Given the description of an element on the screen output the (x, y) to click on. 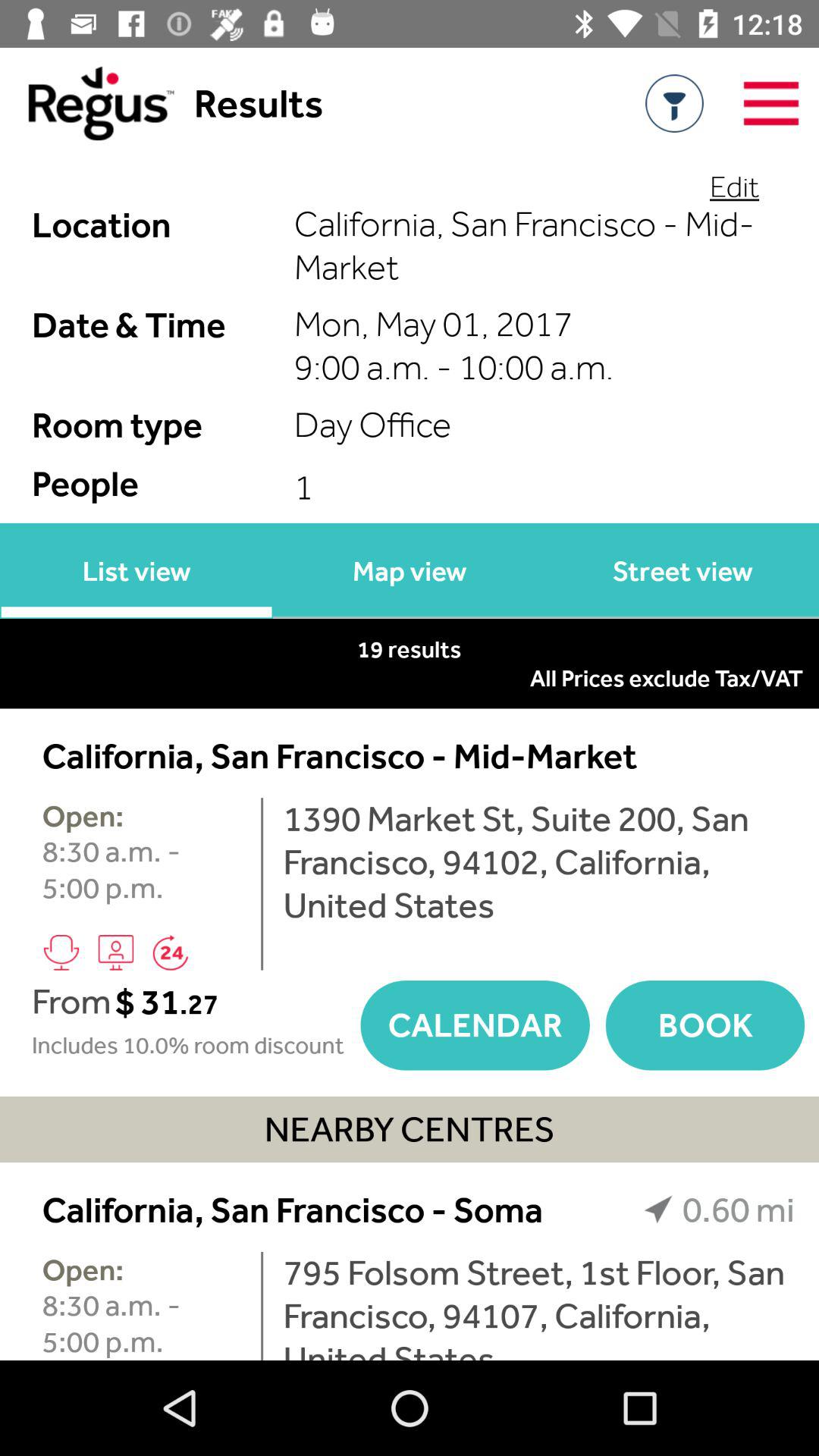
launch the icon to the left of results (87, 103)
